Given the description of an element on the screen output the (x, y) to click on. 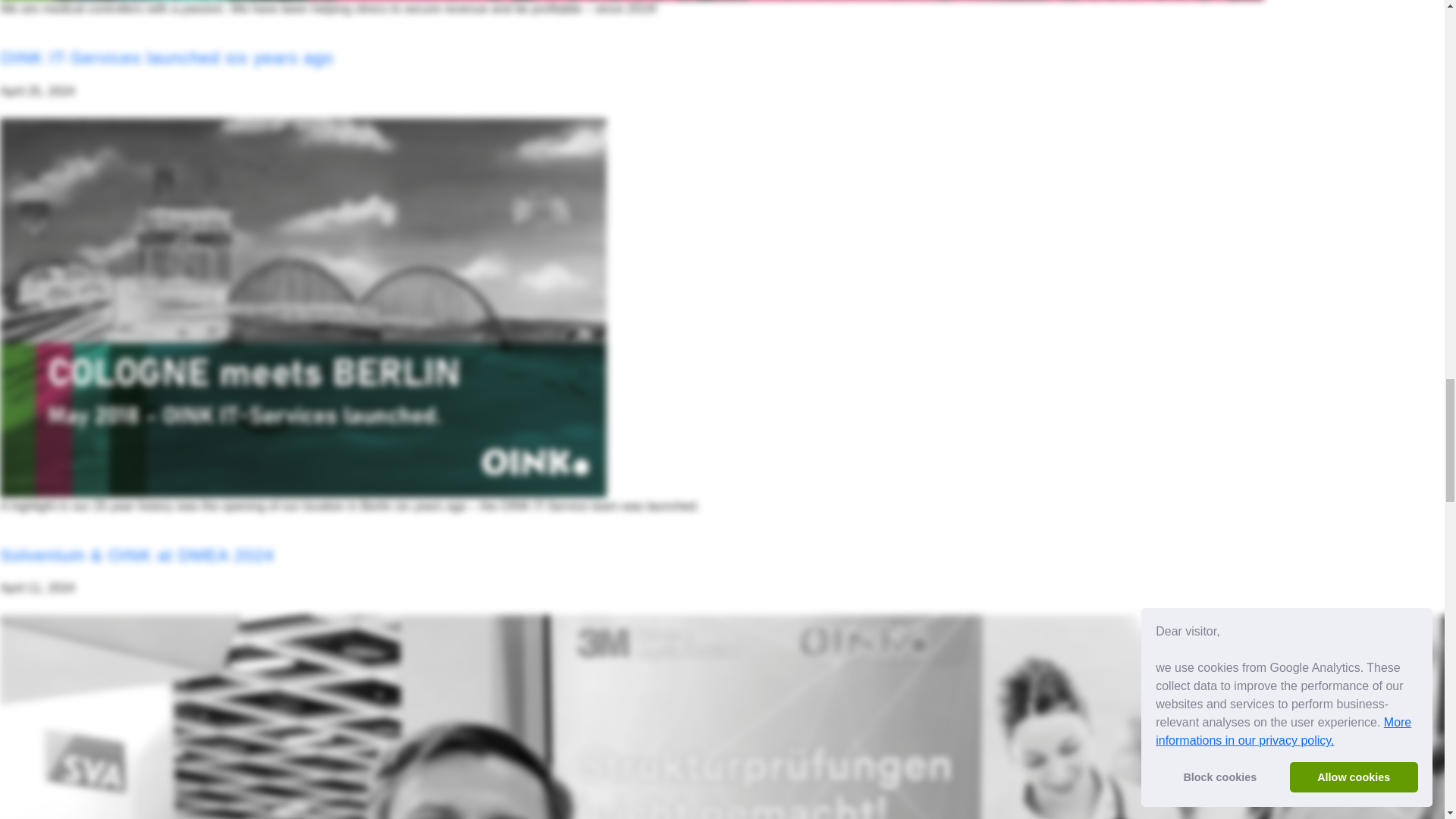
OINK IT-Services launched six years ago (166, 57)
OINK IT-Services launched six years ago (303, 306)
OINK IT-Services launched six years ago (166, 57)
